Given the description of an element on the screen output the (x, y) to click on. 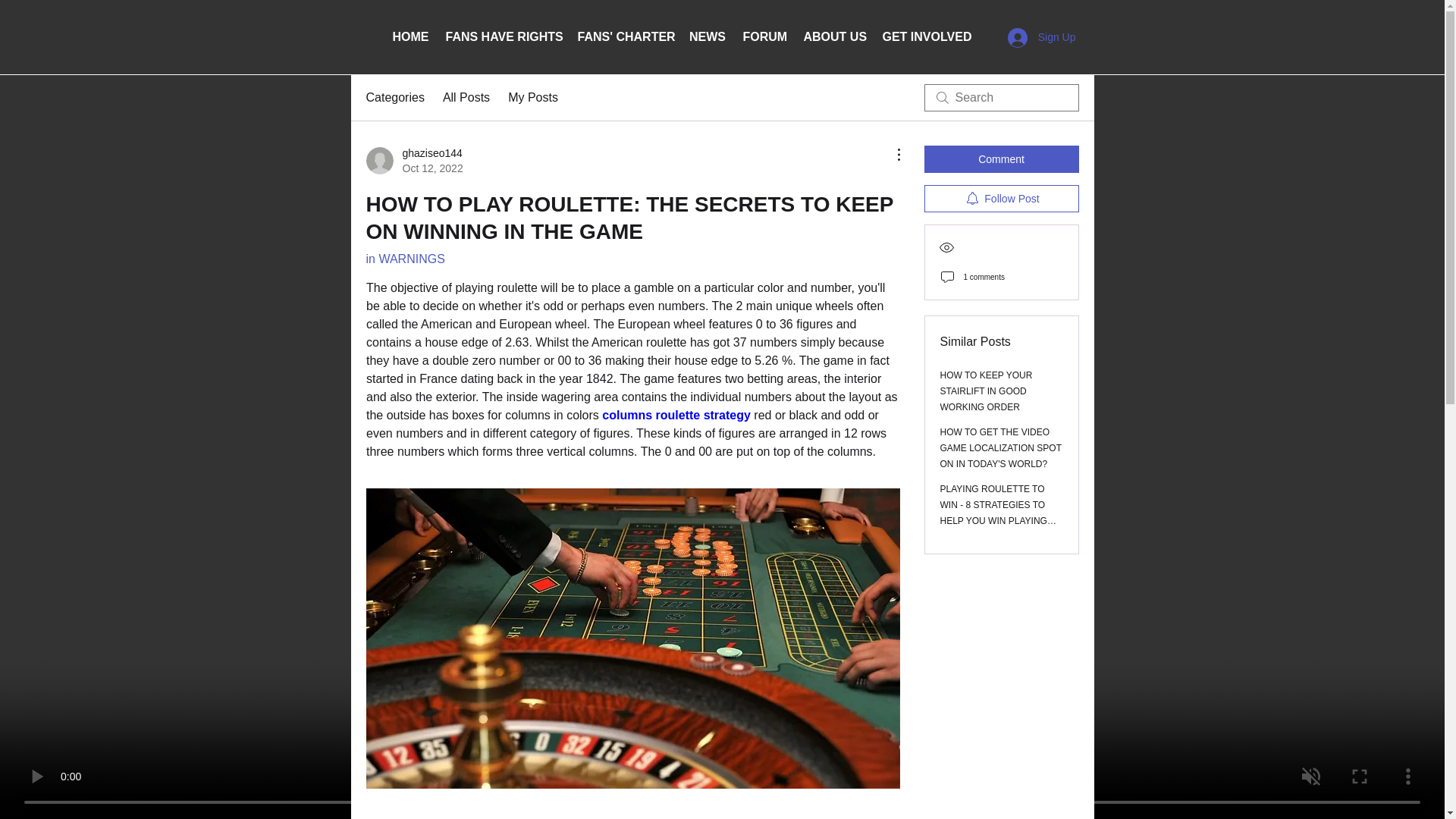
in WARNINGS (404, 258)
Comment (1000, 158)
ABOUT US (833, 36)
FORUM (763, 36)
All Posts (465, 97)
HOW TO KEEP YOUR STAIRLIFT IN GOOD WORKING ORDER (986, 391)
Categories (394, 97)
HOME (410, 36)
FANS HAVE RIGHTS (502, 36)
FANS' CHARTER (624, 36)
My Posts (532, 97)
GET INVOLVED (925, 36)
Follow Post (1000, 198)
